Given the description of an element on the screen output the (x, y) to click on. 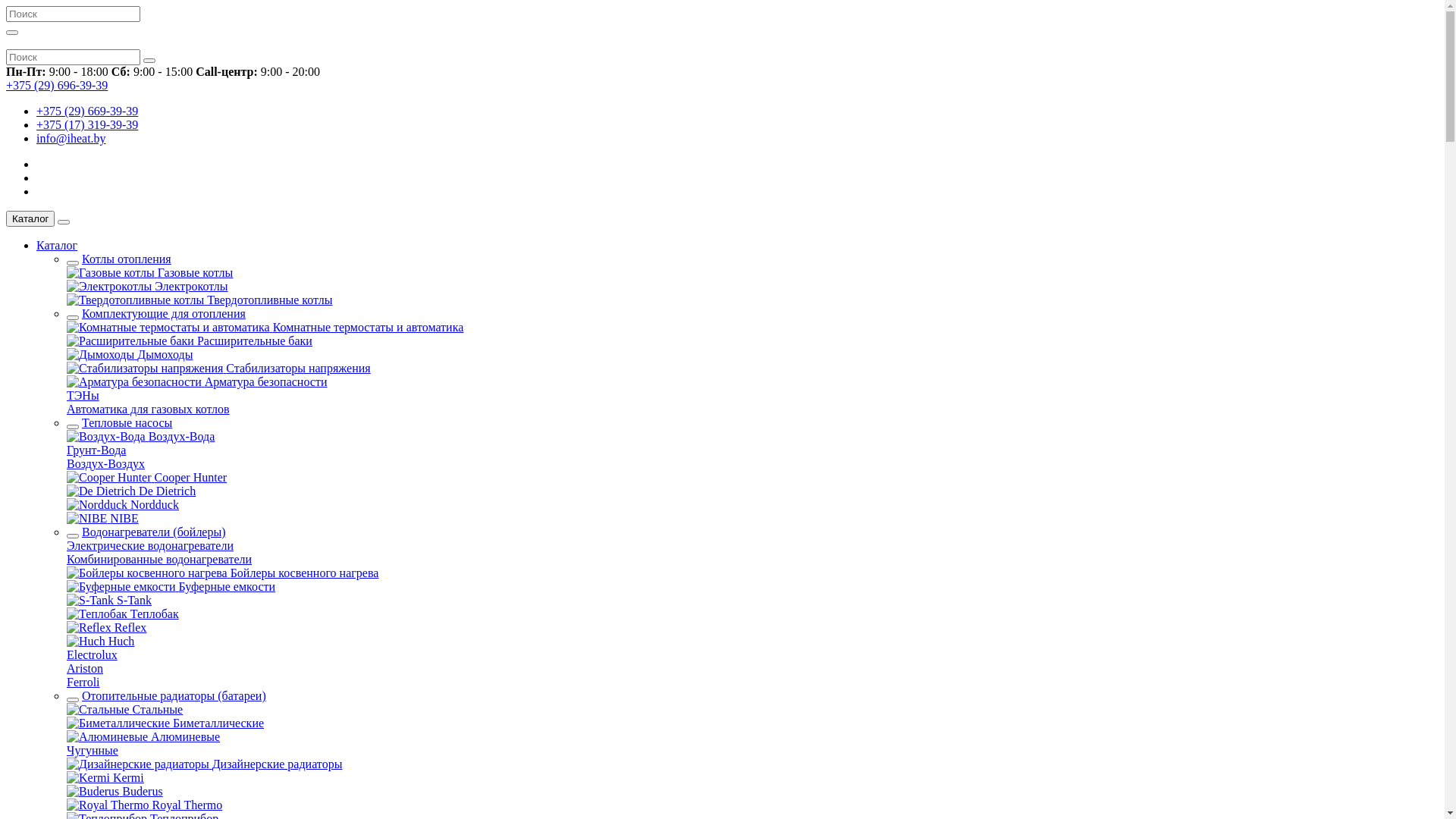
Ariston Element type: text (84, 668)
De Dietrich Element type: text (130, 490)
+375 (29) 696-39-39 Element type: text (56, 84)
+375 (29) 669-39-39 Element type: text (87, 110)
Huch Element type: text (100, 640)
NIBE Element type: text (102, 517)
Buderus Element type: text (114, 790)
info@iheat.by Element type: text (71, 137)
Ferroli Element type: text (83, 681)
Royal Thermo Element type: text (144, 804)
Nordduck Element type: text (122, 504)
Reflex Element type: text (106, 627)
+375 (17) 319-39-39 Element type: text (87, 124)
S-Tank Element type: text (108, 599)
Cooper Hunter Element type: text (146, 476)
Kermi Element type: text (105, 777)
Electrolux Element type: text (91, 654)
